Given the description of an element on the screen output the (x, y) to click on. 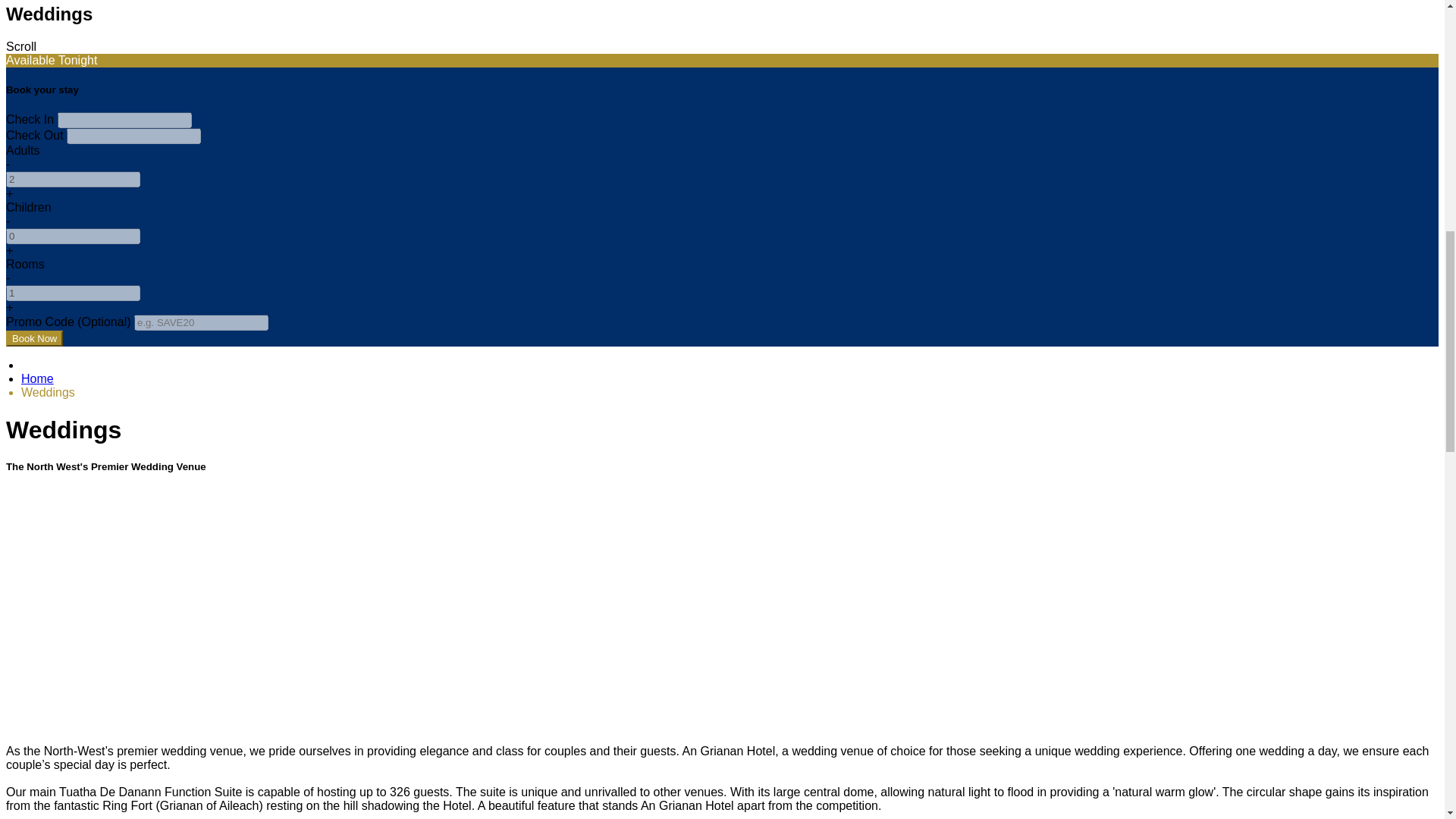
0 (72, 236)
Book Now (33, 338)
YouTube video player (217, 622)
2 (72, 179)
1 (72, 293)
